Given the description of an element on the screen output the (x, y) to click on. 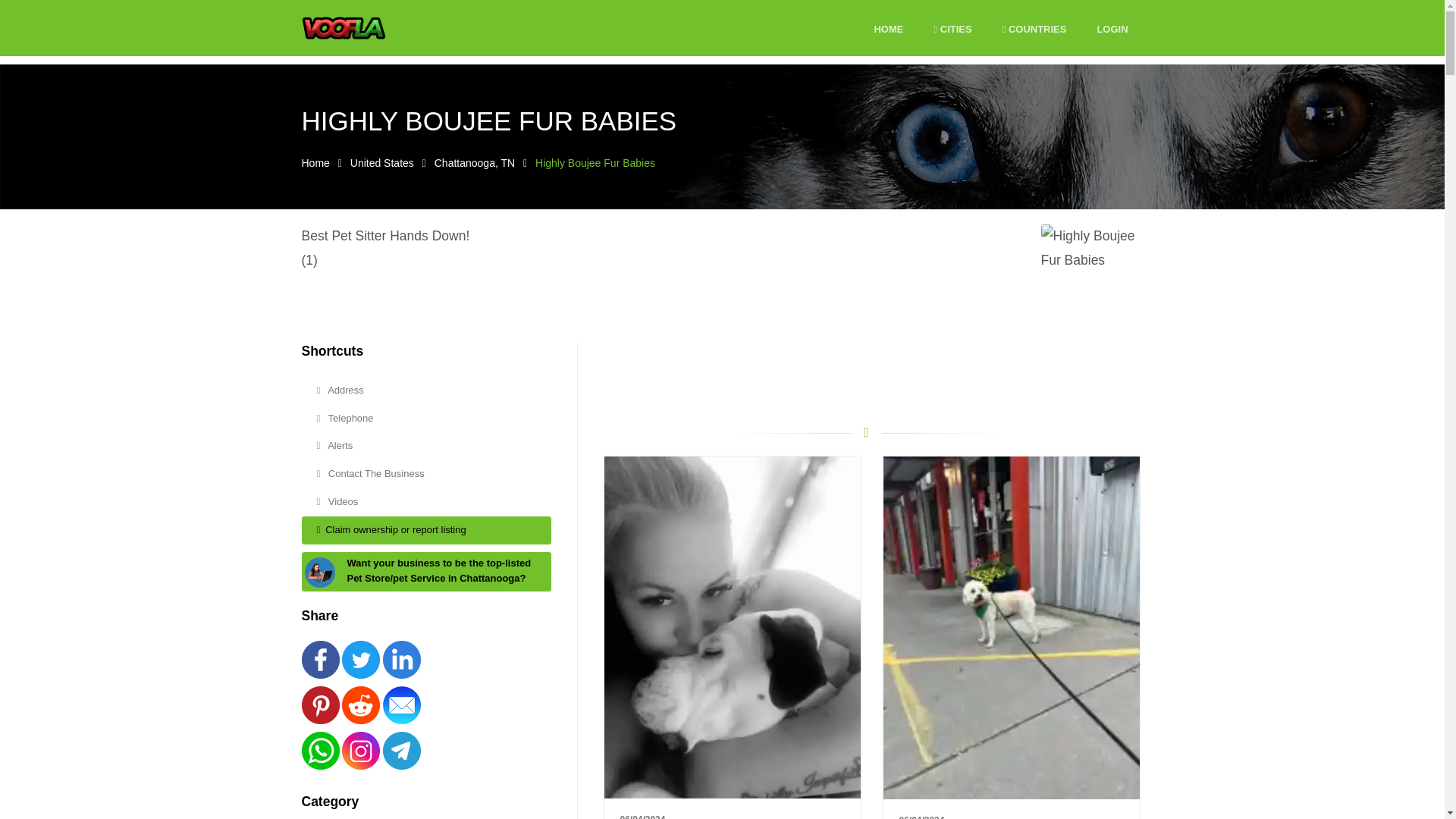
Advertisement (865, 376)
Telephone (426, 418)
CITIES (952, 29)
Address (426, 390)
Alerts (426, 446)
HOME (887, 29)
Chattanooga, TN (474, 162)
Claim ownership or report listing (426, 530)
Videos (426, 502)
Home (315, 162)
United States (381, 162)
Contact The Business (426, 474)
